Given the description of an element on the screen output the (x, y) to click on. 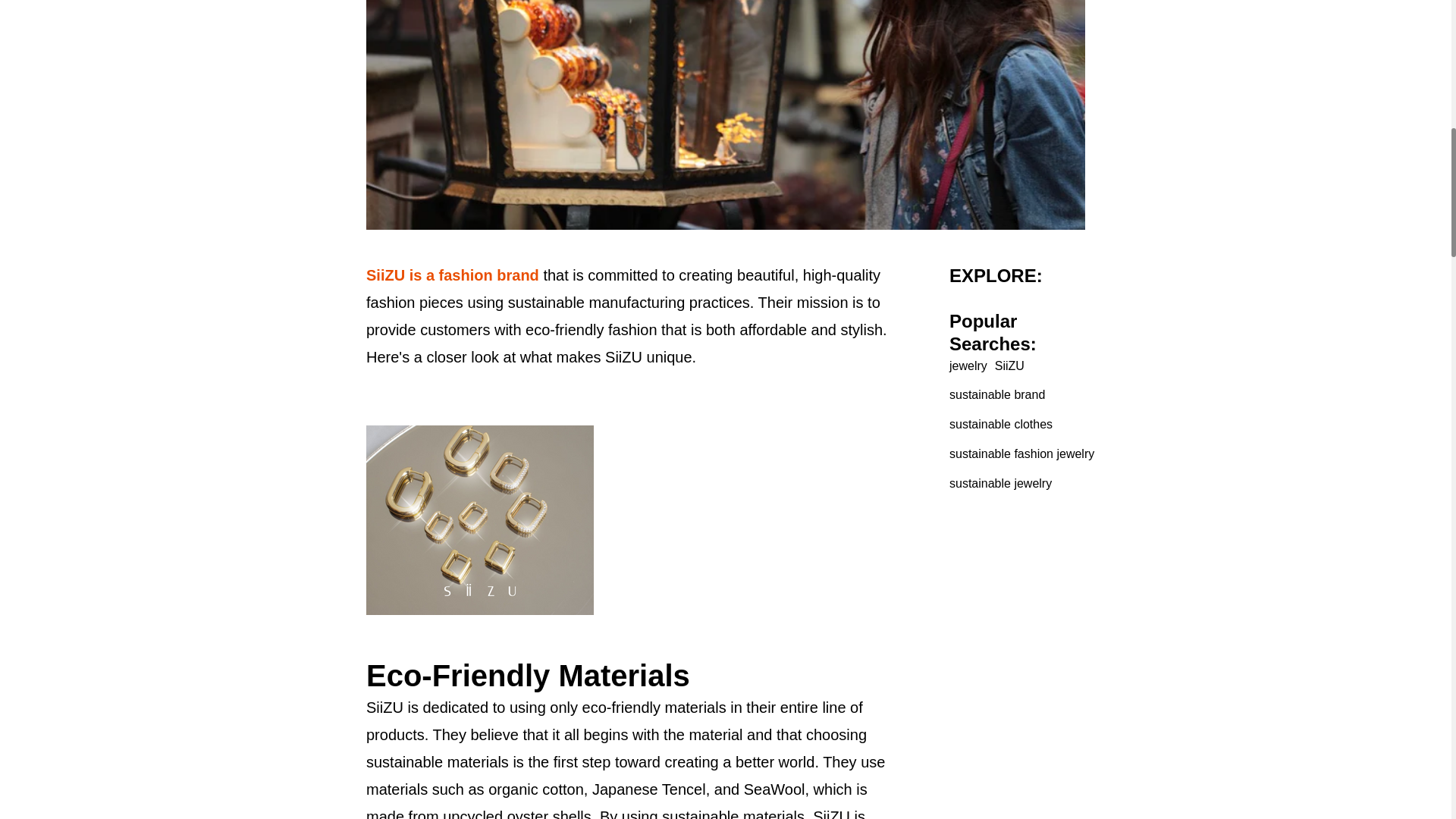
jewelry (968, 365)
SiiZU is a fashion brand (454, 274)
